Given the description of an element on the screen output the (x, y) to click on. 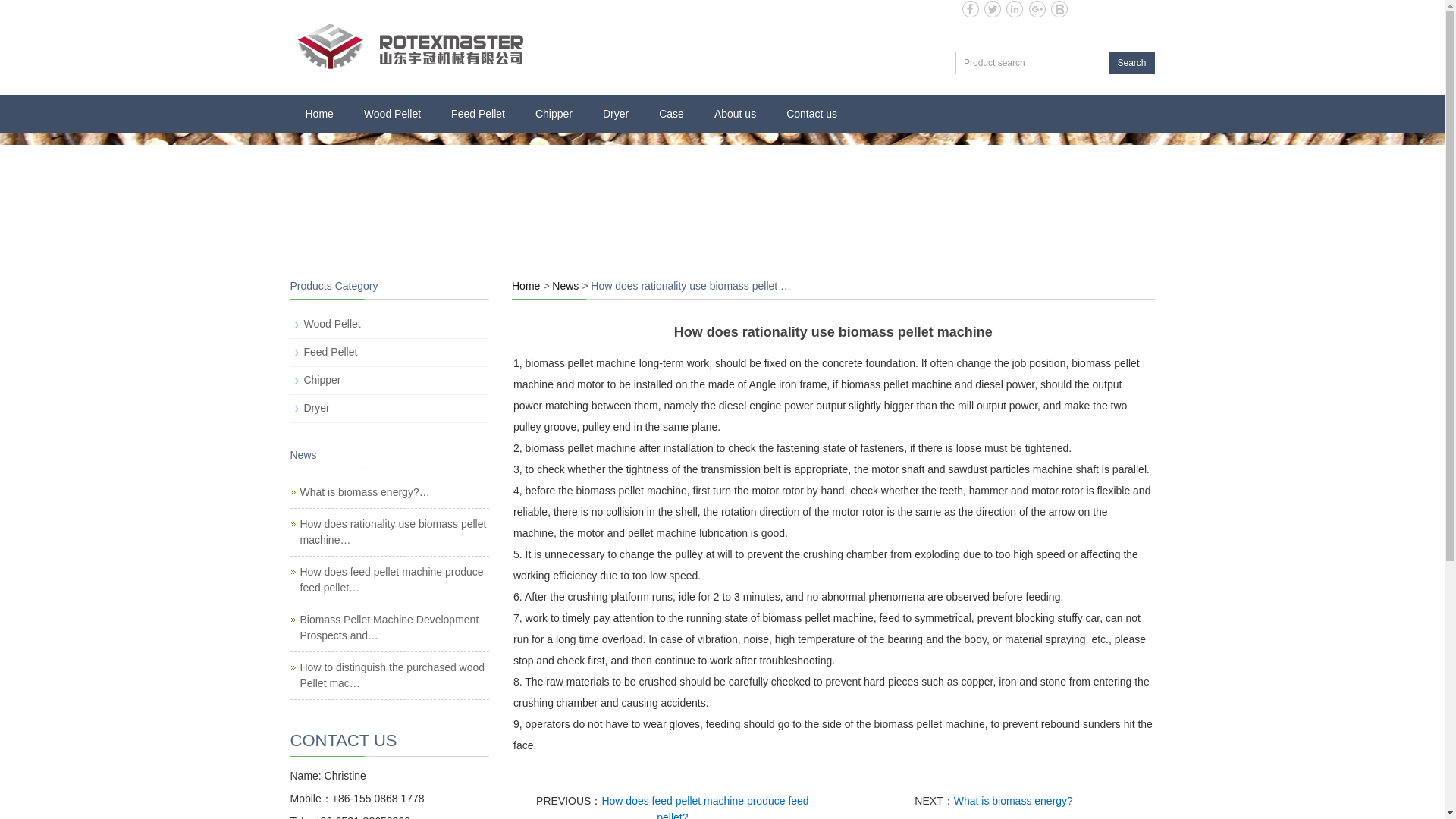
What is biomass energy? (1013, 800)
How does rationality use biomass pellet machine (392, 531)
Case (670, 113)
How does feed pellet machine produce feed pellet? (391, 579)
Top (1410, 442)
Dryer (615, 113)
Feed Pellet (477, 113)
Search (1131, 62)
Chipper (553, 113)
Home (318, 113)
About us (734, 113)
News (564, 285)
How does feed pellet machine produce feed pellet? (704, 806)
Wood Pellet (392, 113)
Contact us (811, 113)
